Given the description of an element on the screen output the (x, y) to click on. 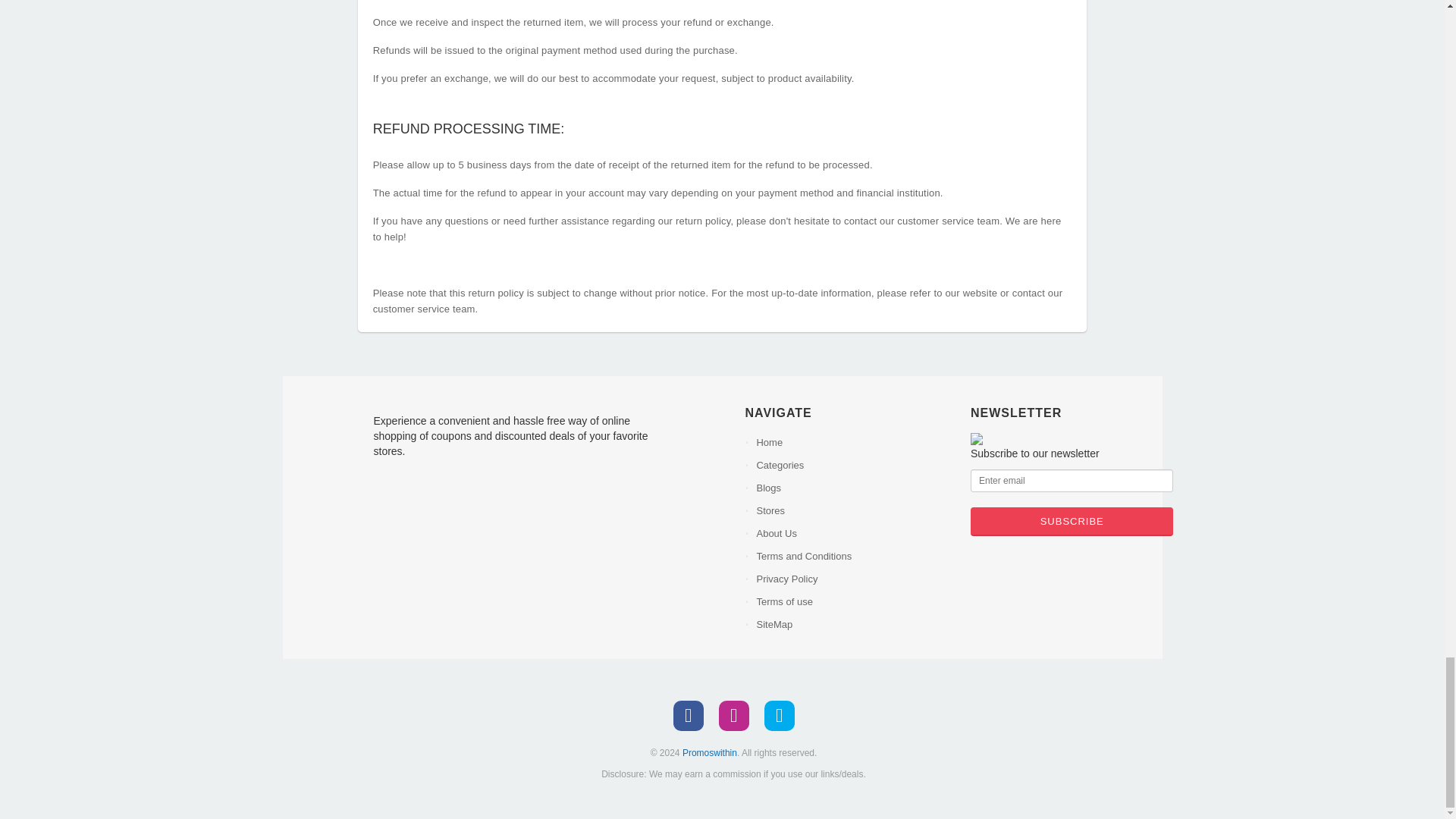
Terms and Conditions (851, 556)
Home (851, 442)
Blogs (851, 487)
Categories (851, 465)
Join us on Instagram (734, 716)
Terms of use (851, 601)
Stores (851, 510)
Join us on Facebook (687, 716)
SiteMap (851, 624)
Terms and Conditions (851, 556)
